Given the description of an element on the screen output the (x, y) to click on. 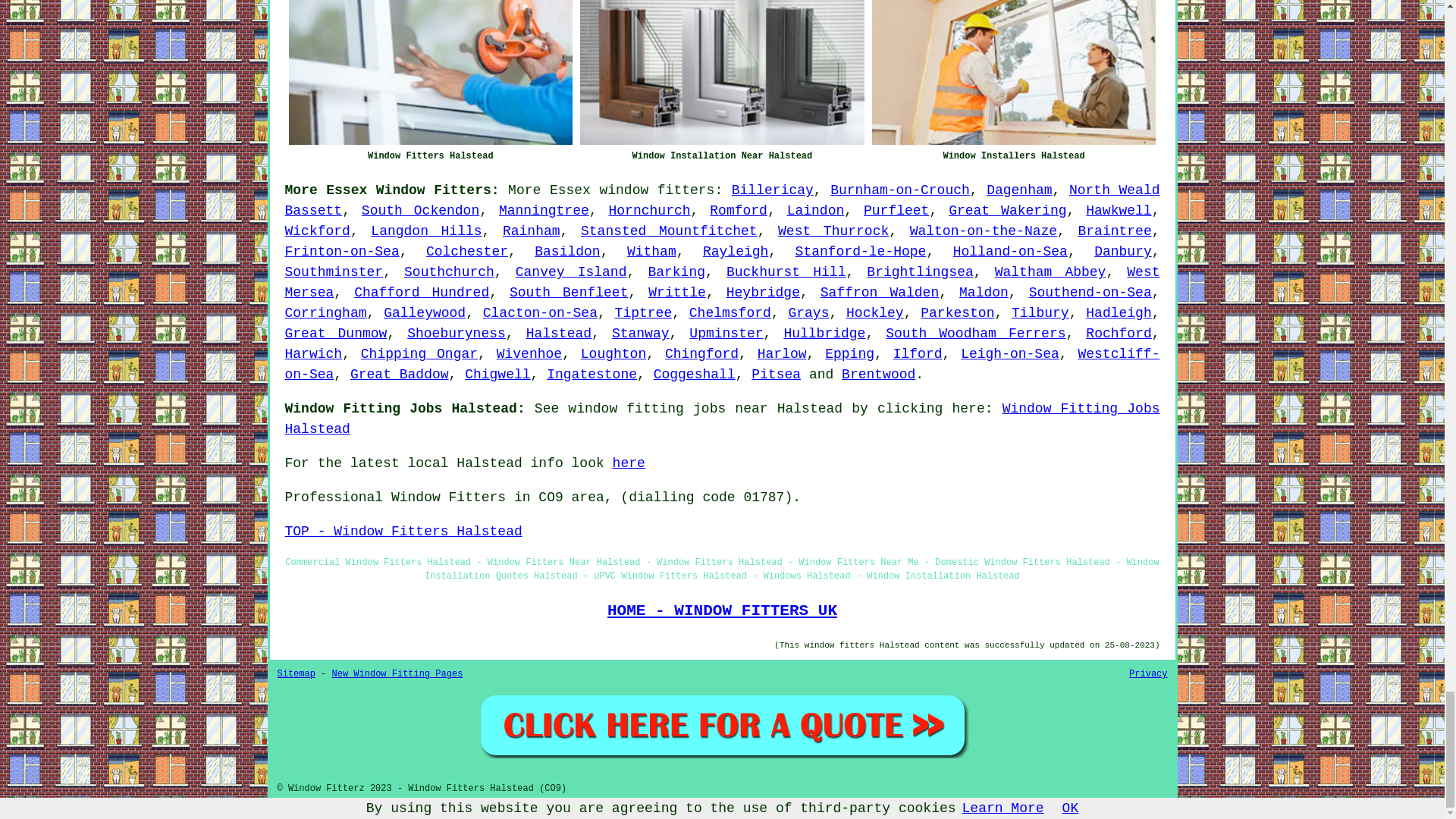
Window Installation Near Me Halstead (721, 72)
Window Fitters Halstead (430, 72)
Window Installers Halstead UK (1014, 72)
Halstead Window Installation Quotes (722, 725)
